Given the description of an element on the screen output the (x, y) to click on. 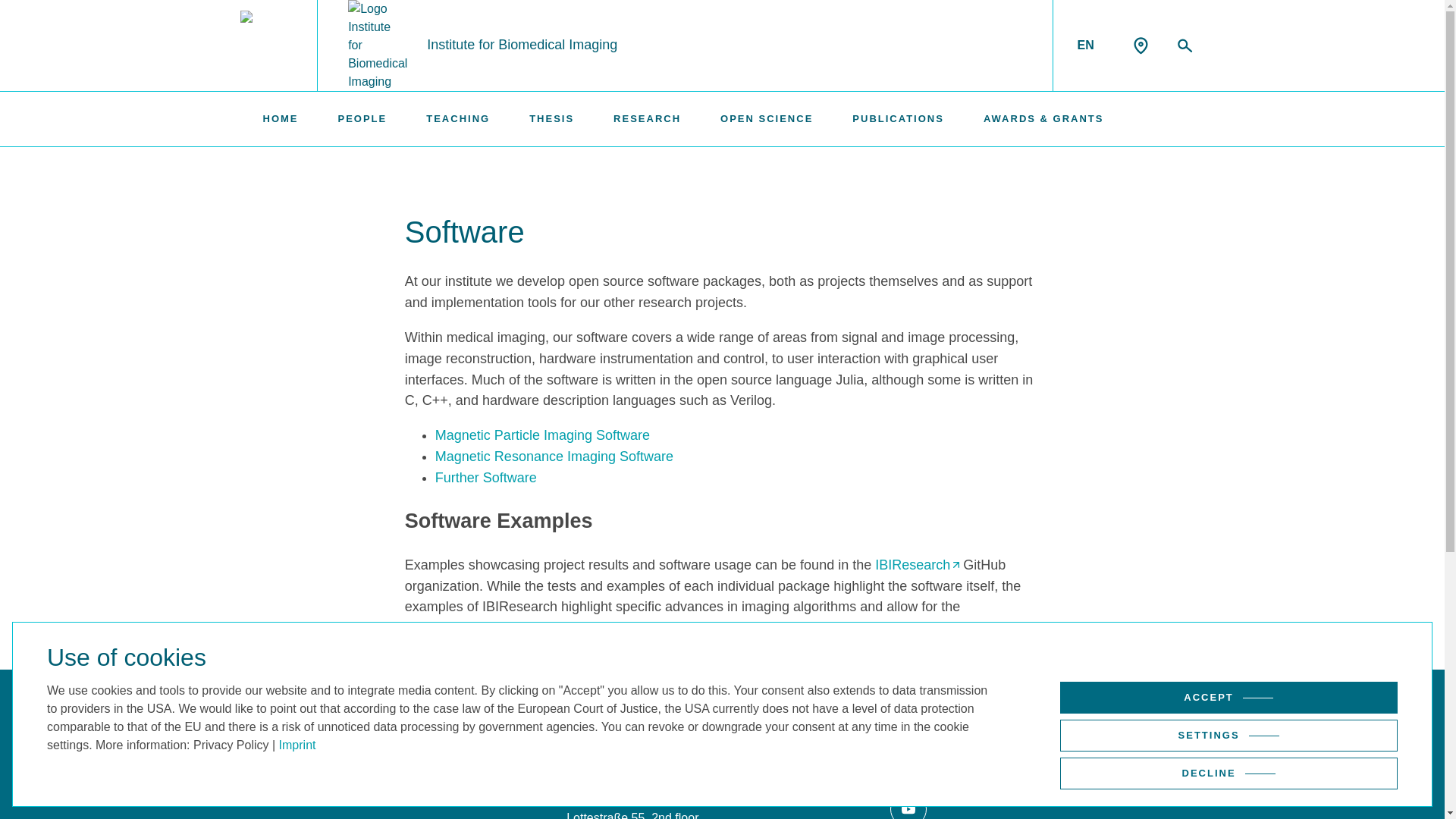
Magnetic Particle Imaging Software (542, 435)
IBIResearch (917, 564)
IBIResearch Organization (917, 564)
Further Software (486, 477)
HOME (280, 119)
TEACHING (457, 119)
Magnetic Resonance Imaging Software (553, 456)
OPEN SCIENCE (766, 119)
reproduction (442, 627)
PUBLICATIONS (897, 119)
